Given the description of an element on the screen output the (x, y) to click on. 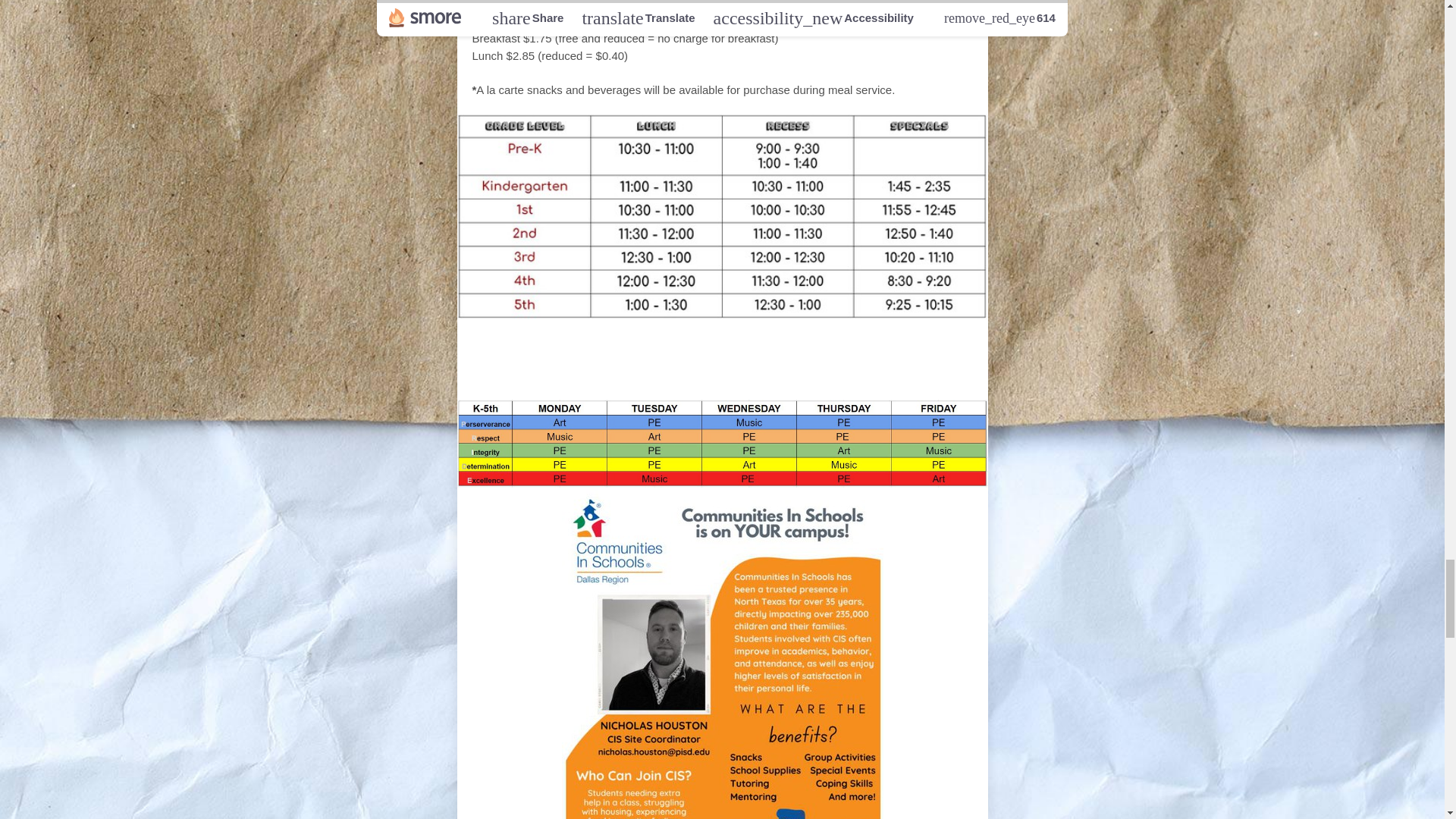
Music, (584, 371)
Education (756, 371)
as (847, 346)
Art, (533, 371)
known (798, 346)
AMPED (515, 346)
Physical (660, 371)
Schedule (601, 346)
Department (869, 371)
